Given the description of an element on the screen output the (x, y) to click on. 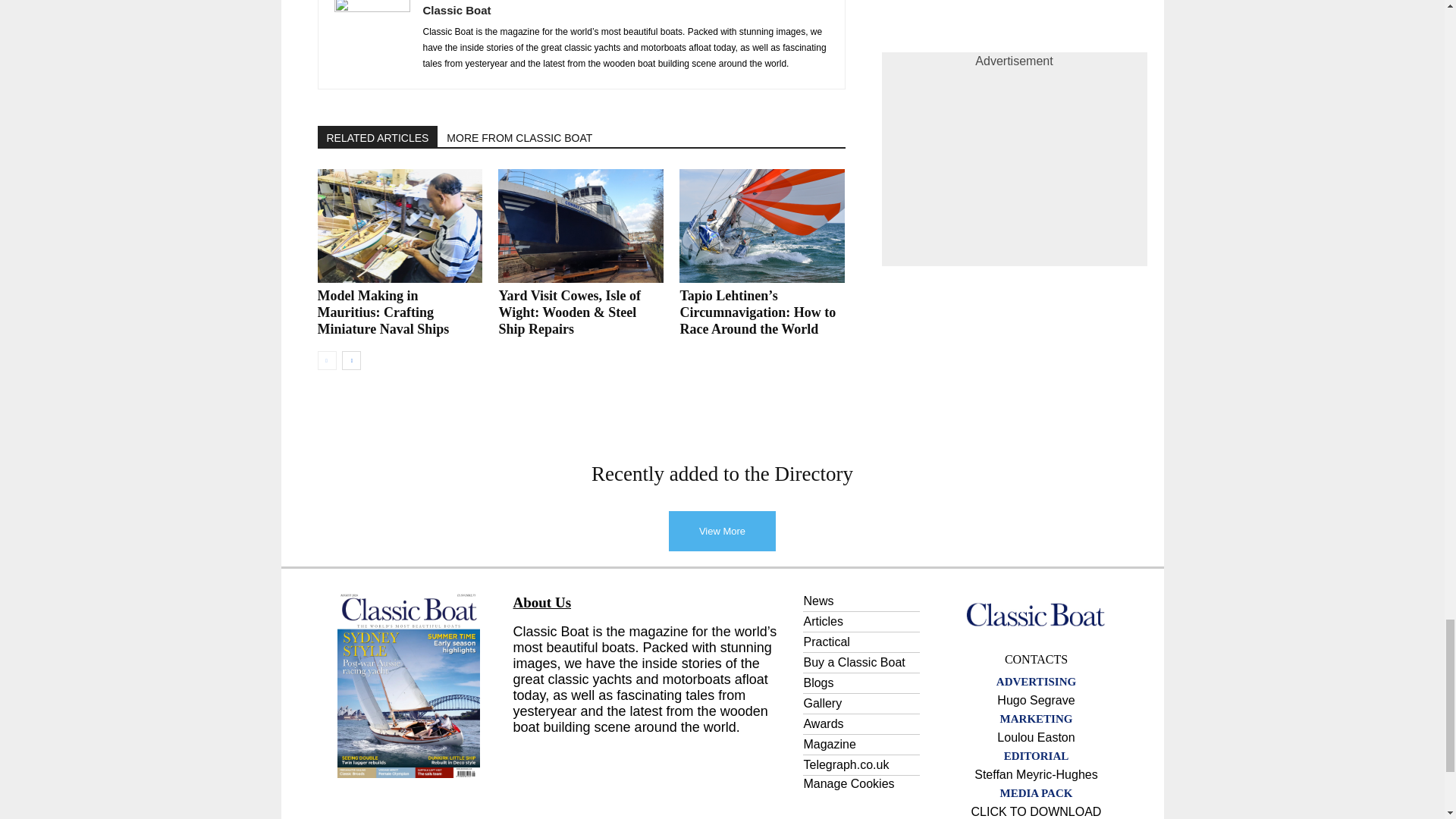
Classic Boat (1035, 614)
Model Making in Mauritius: Crafting Miniature Naval Ships (399, 225)
Model Making in Mauritius: Crafting Miniature Naval Ships (382, 312)
